Given the description of an element on the screen output the (x, y) to click on. 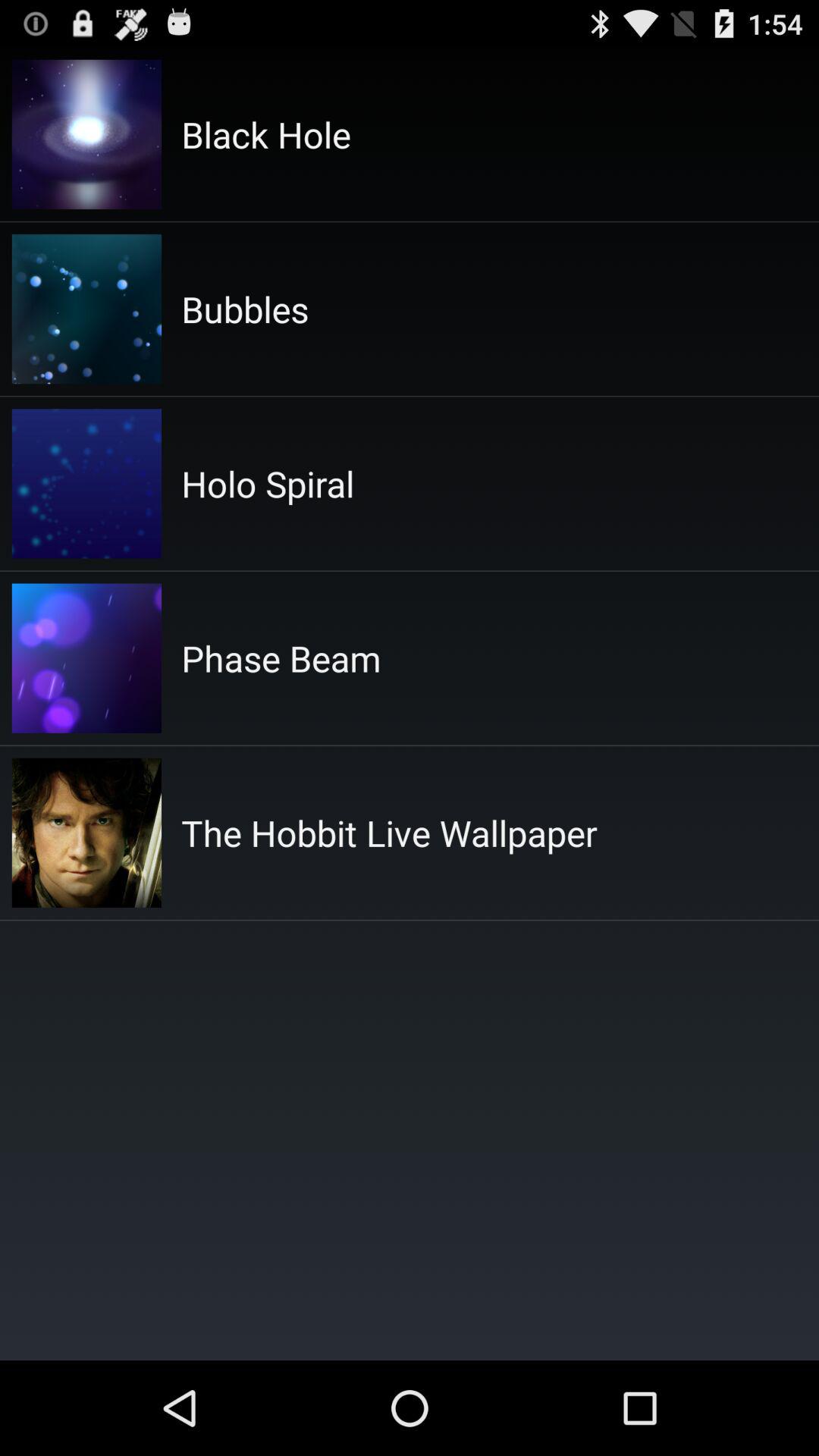
click black hole icon (265, 134)
